Given the description of an element on the screen output the (x, y) to click on. 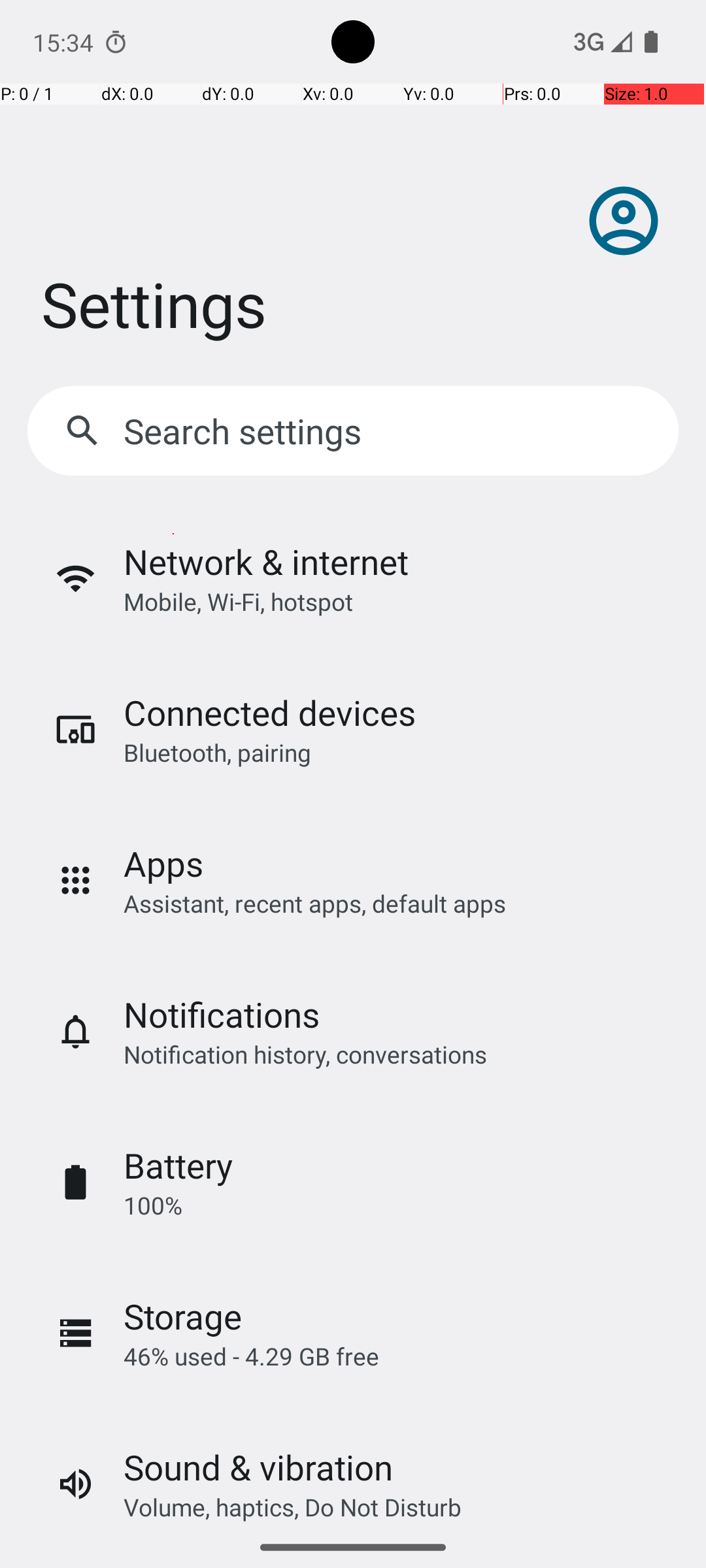
46% used - 4.29 GB free Element type: android.widget.TextView (251, 1355)
